Given the description of an element on the screen output the (x, y) to click on. 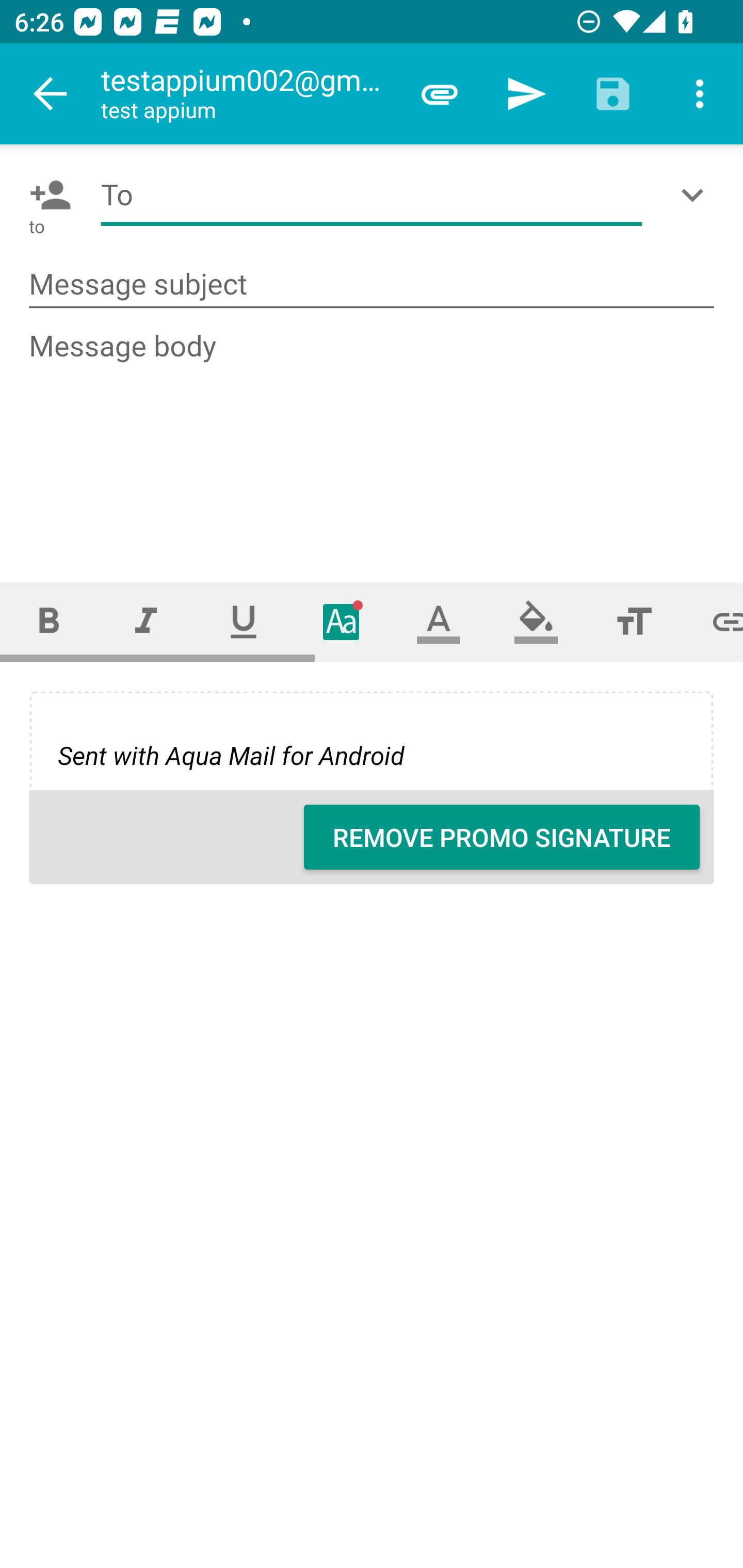
Navigate up (50, 93)
testappium002@gmail.com test appium (248, 93)
Attach (439, 93)
Send (525, 93)
Save (612, 93)
More options (699, 93)
Pick contact: To (46, 195)
Show/Add CC/BCC (696, 195)
To (371, 195)
Message subject (371, 284)
Bold (48, 621)
Italic (145, 621)
Underline (243, 621)
Typeface (font) (341, 621)
Text color (438, 621)
Fill color (536, 621)
Font size (633, 621)
REMOVE PROMO SIGNATURE (501, 837)
